Given the description of an element on the screen output the (x, y) to click on. 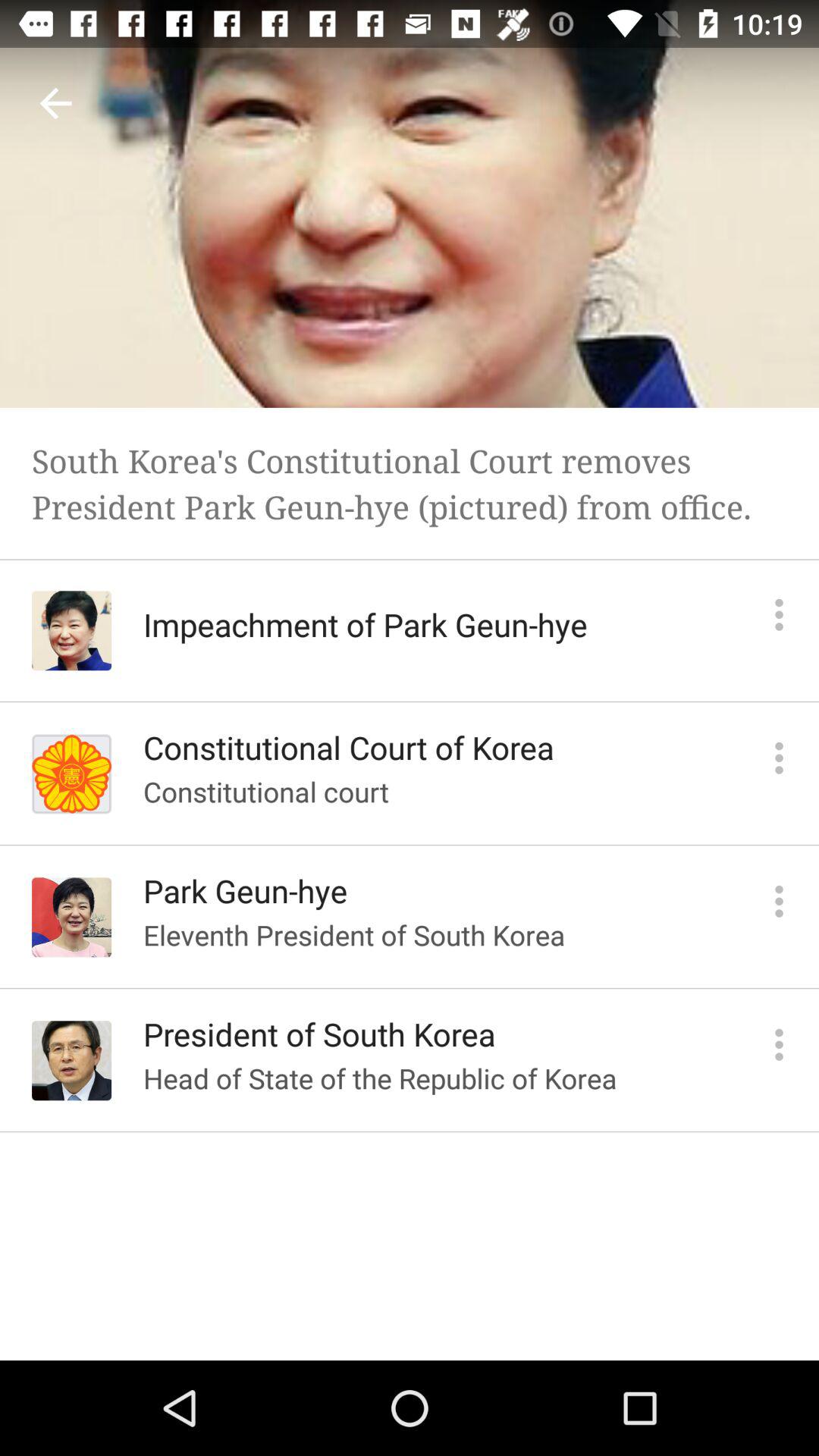
see the info about the person (779, 614)
